Given the description of an element on the screen output the (x, y) to click on. 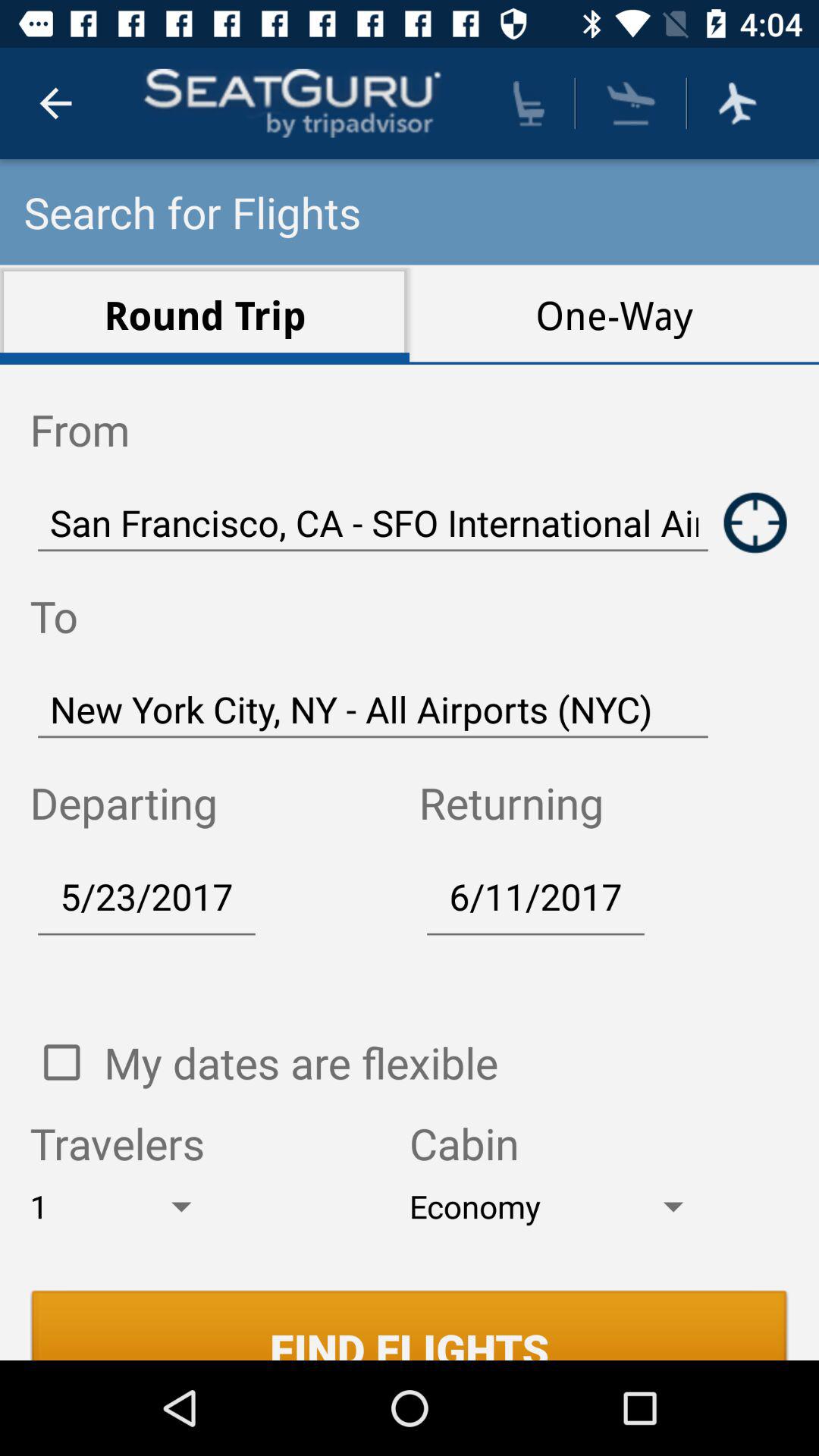
scroll to 6/11/2017 icon (535, 895)
